Given the description of an element on the screen output the (x, y) to click on. 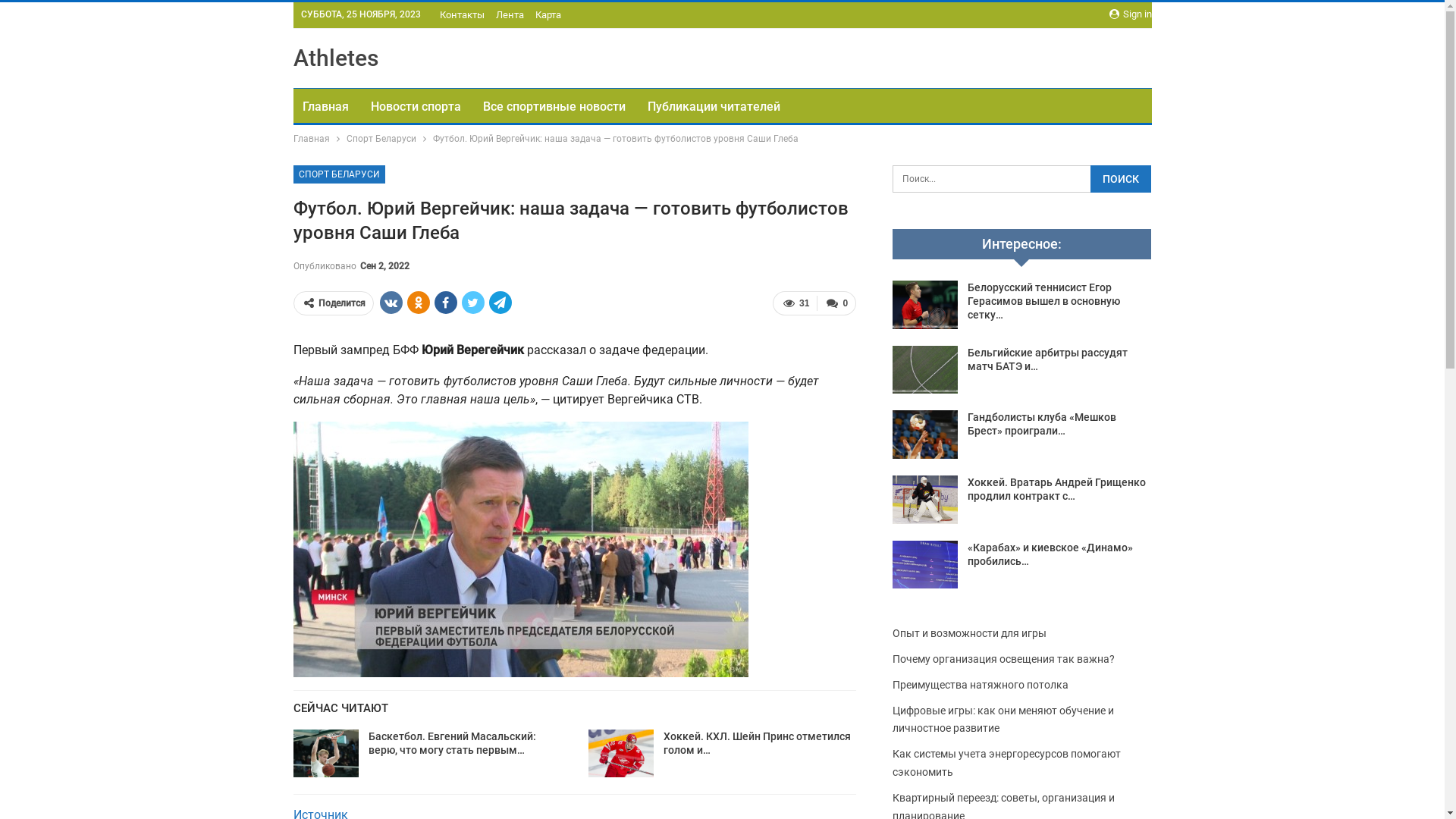
Athletes Element type: text (334, 57)
Sign in Element type: text (1129, 14)
0 Element type: text (836, 303)
